Given the description of an element on the screen output the (x, y) to click on. 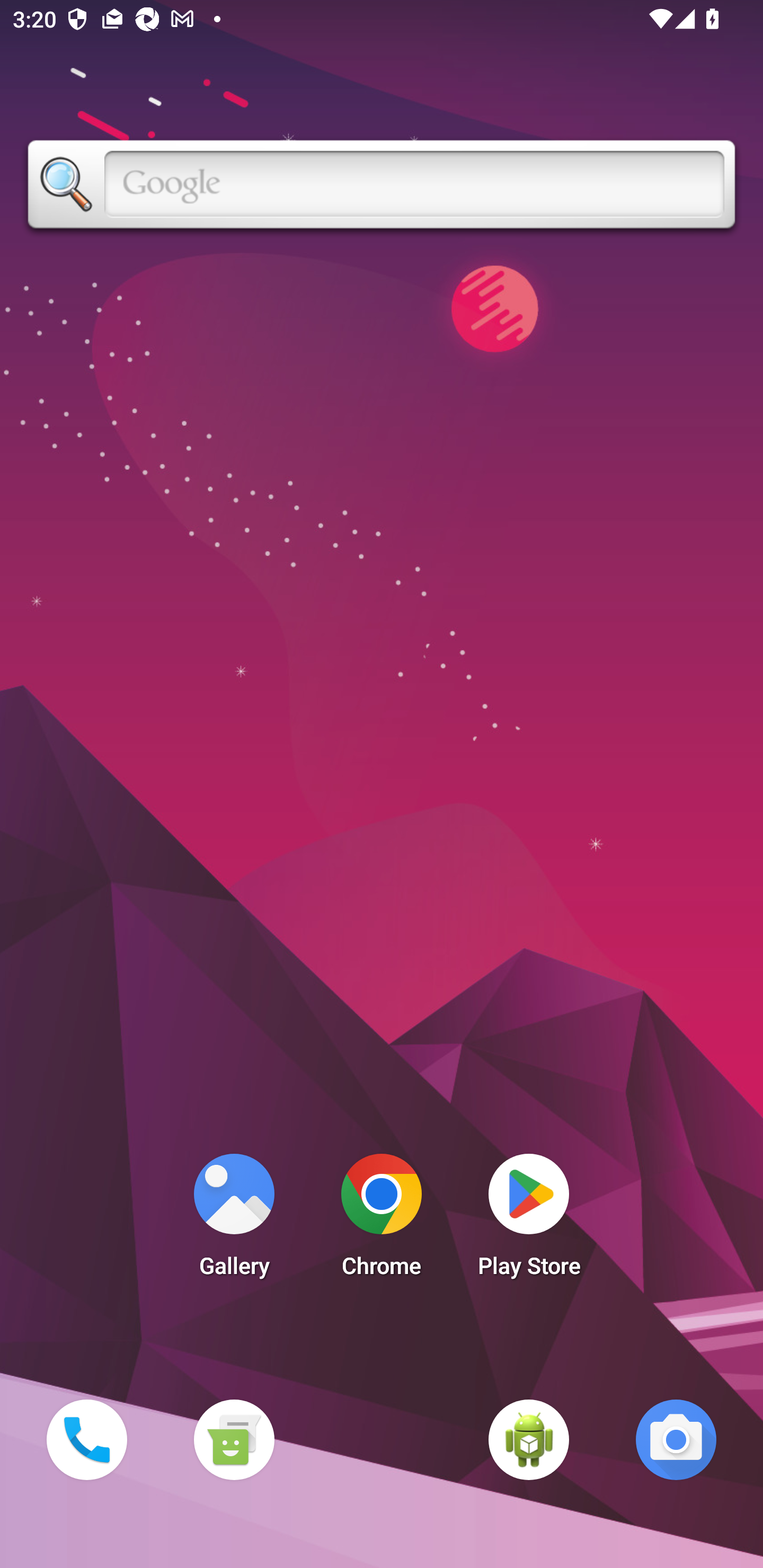
Gallery (233, 1220)
Chrome (381, 1220)
Play Store (528, 1220)
Phone (86, 1439)
Messaging (233, 1439)
WebView Browser Tester (528, 1439)
Camera (676, 1439)
